Given the description of an element on the screen output the (x, y) to click on. 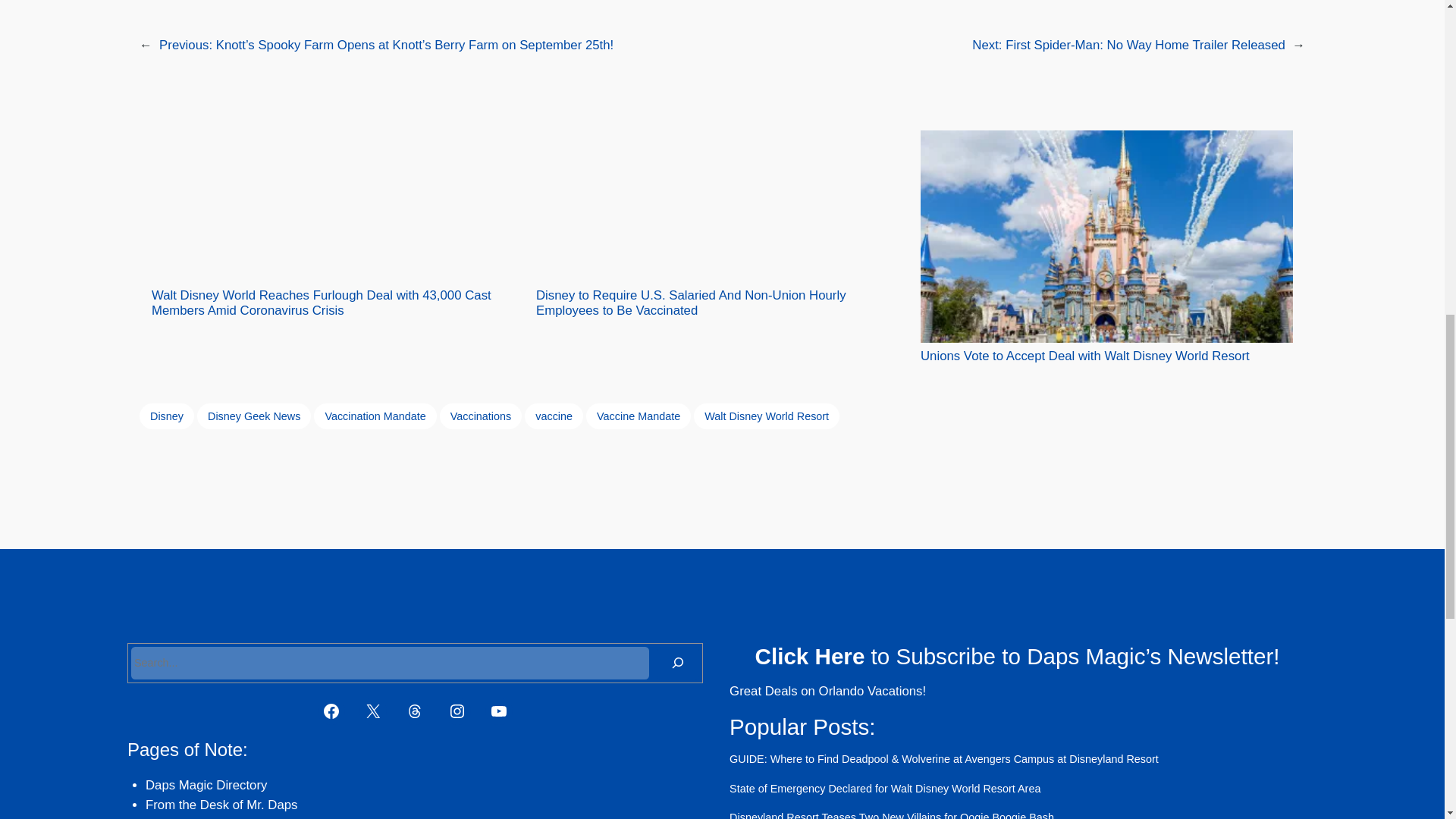
vaccine (553, 416)
Unions Vote to Accept Deal with Walt Disney World Resort (1106, 247)
Next: First Spider-Man: No Way Home Trailer Released (1128, 44)
Disney (166, 416)
Vaccination Mandate (374, 416)
Disney Geek News (253, 416)
Vaccinations (480, 416)
